Given the description of an element on the screen output the (x, y) to click on. 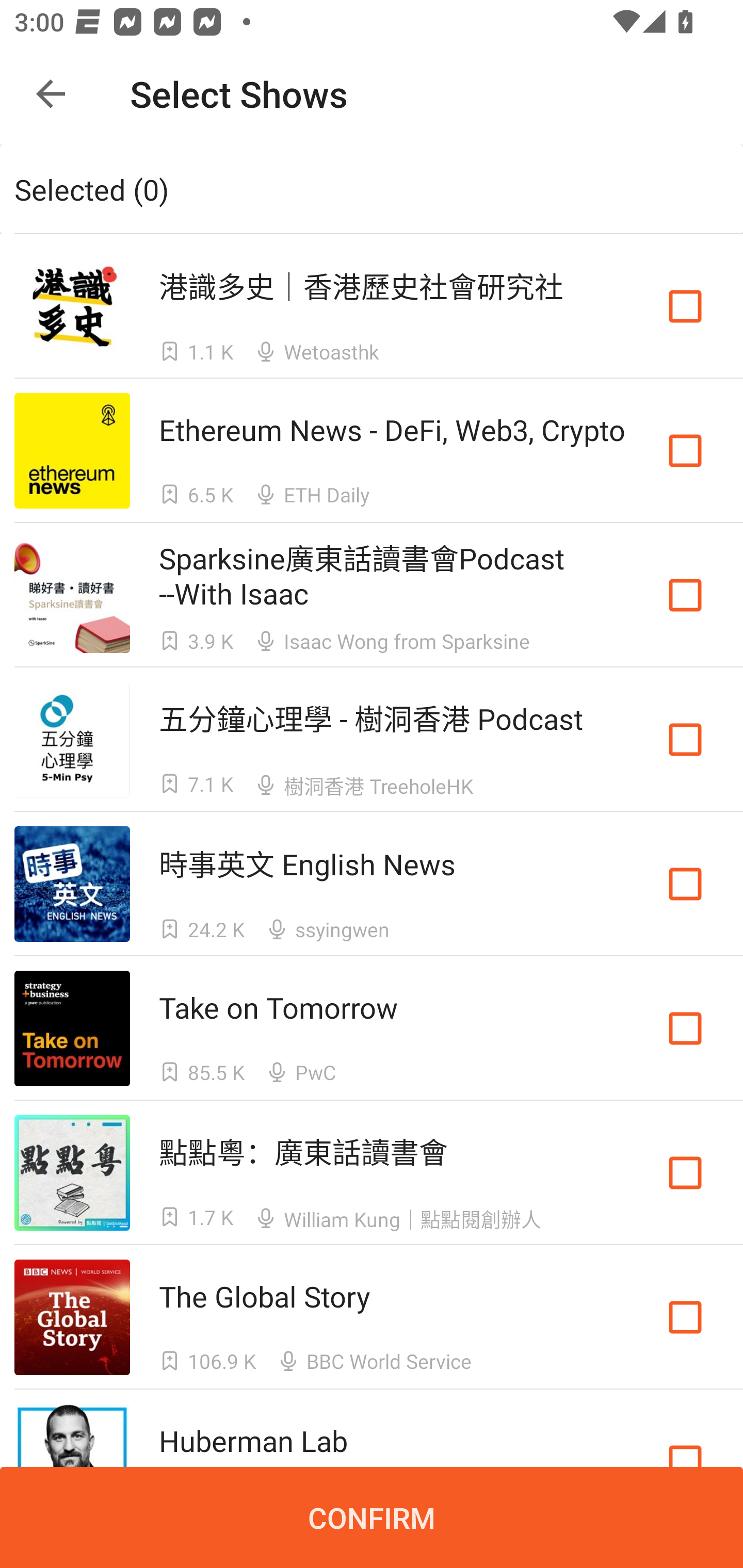
Navigate up (50, 93)
港識多史｜香港歷史社會研究社 港識多史｜香港歷史社會研究社  1.1 K  Wetoasthk (371, 305)
Take on Tomorrow Take on Tomorrow  85.5 K  PwC (371, 1028)
CONFIRM (371, 1517)
